Given the description of an element on the screen output the (x, y) to click on. 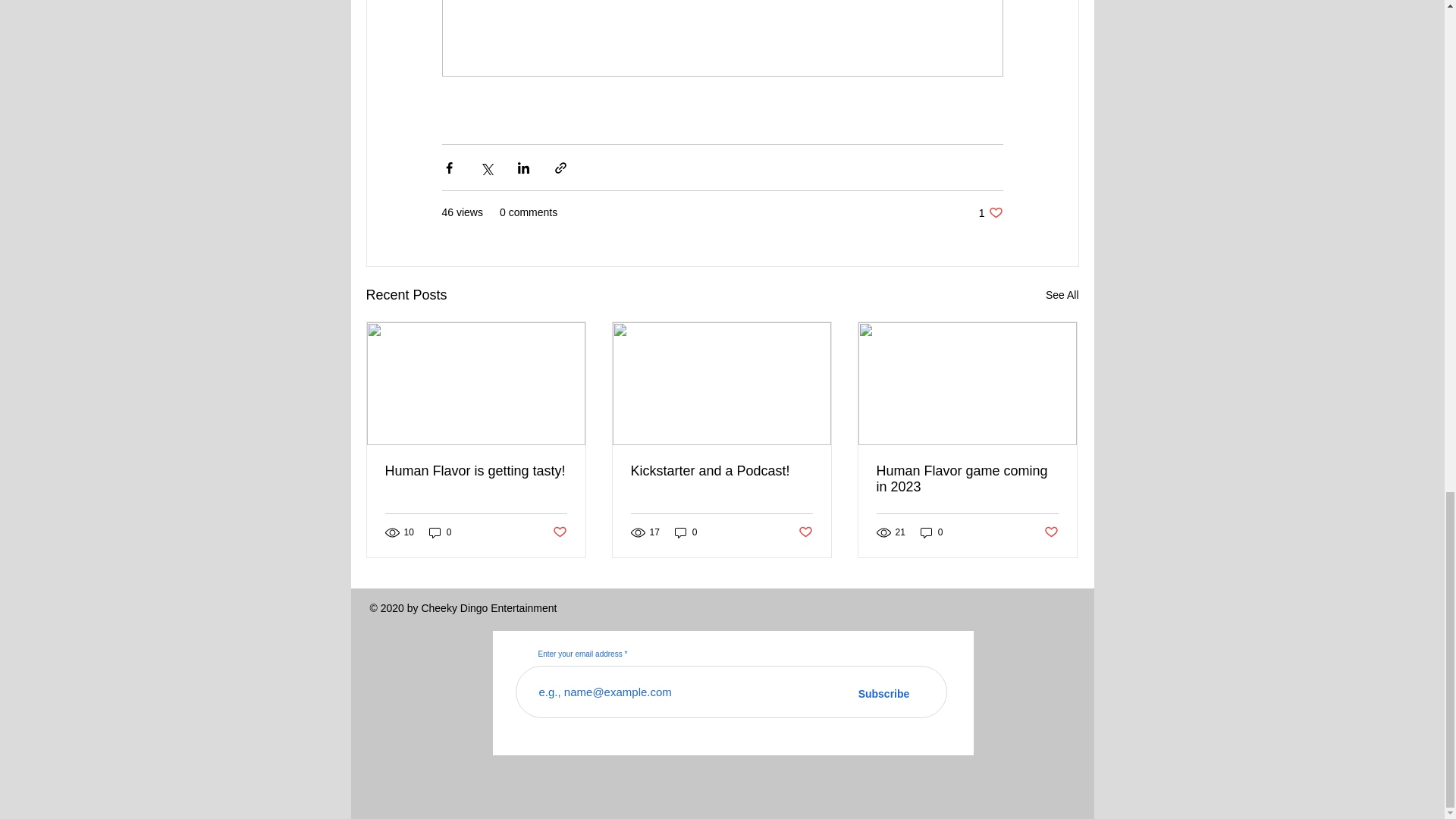
See All (1061, 295)
